Given the description of an element on the screen output the (x, y) to click on. 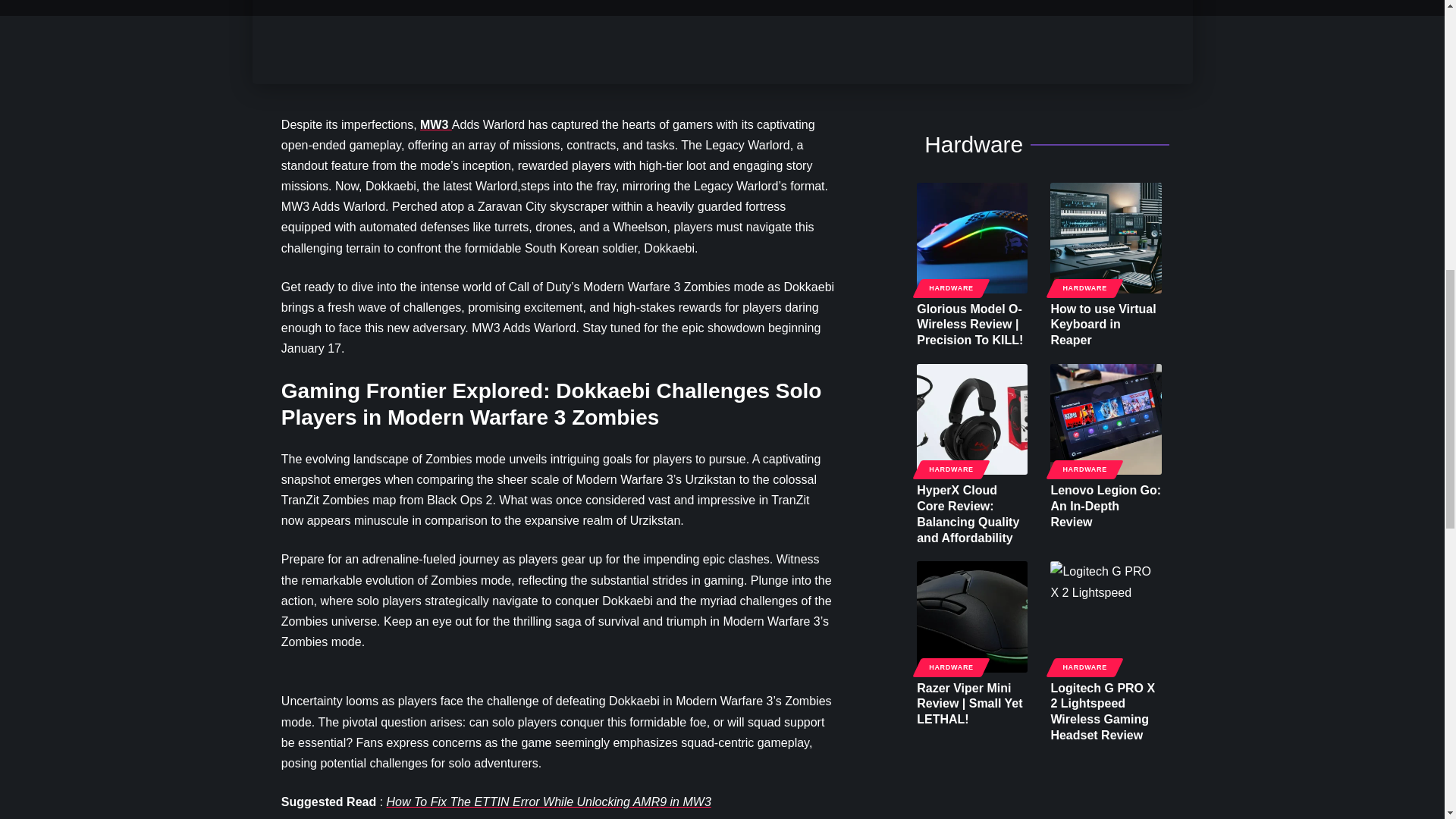
Lenovo Legion Go: An In-Depth Review (1104, 419)
Logitech G PRO X 2 Lightspeed Wireless Gaming Headset Review (1104, 616)
How to use Virtual Keyboard in Reaper (1104, 236)
MW3 (435, 124)
How To Fix The ETTIN Error While Unlocking AMR9 in MW3 (549, 801)
